Given the description of an element on the screen output the (x, y) to click on. 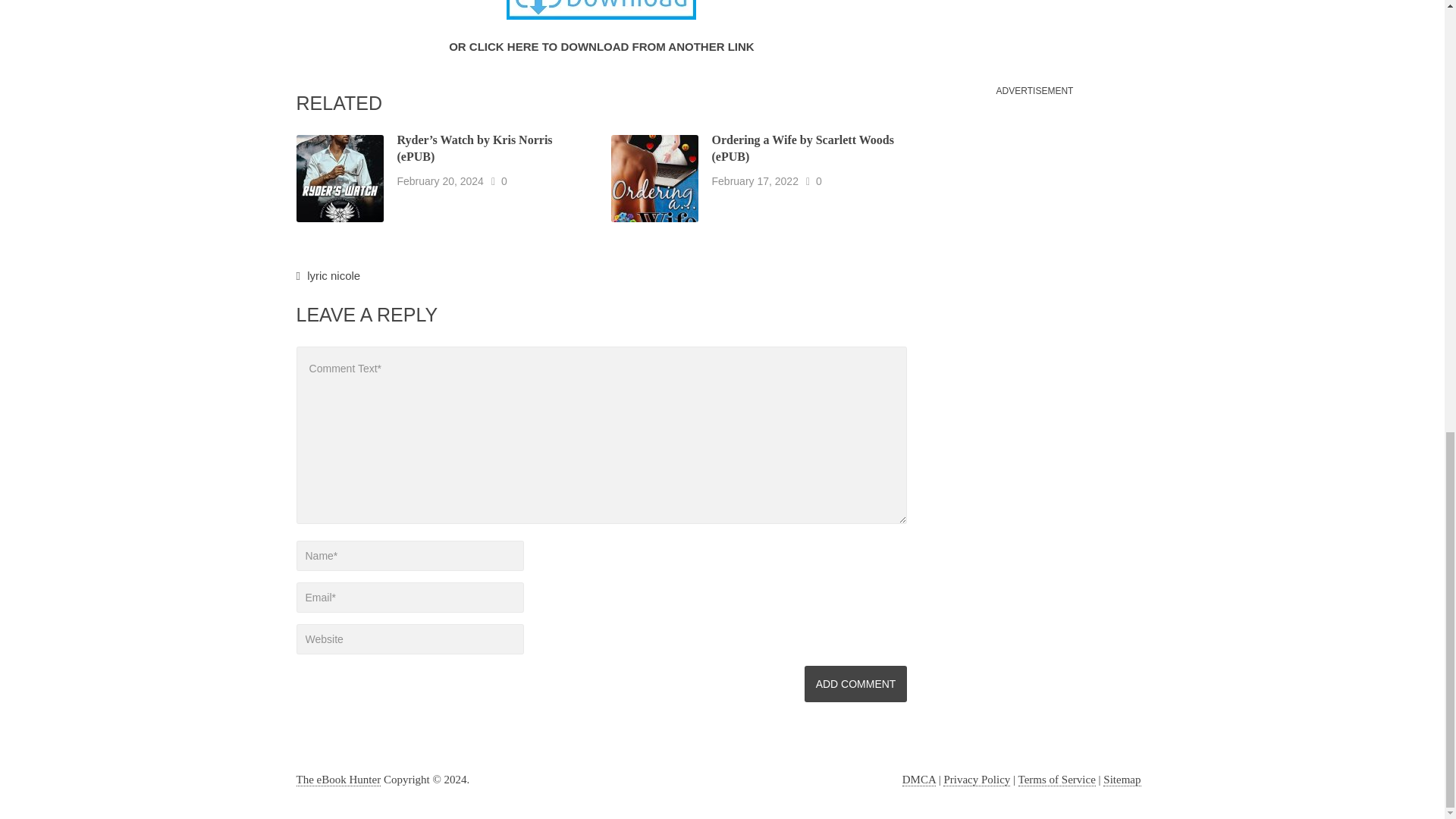
Add Comment (856, 683)
Add Comment (856, 683)
0 (818, 180)
0 (504, 180)
lyric nicole (333, 275)
OR CLICK HERE TO DOWNLOAD FROM ANOTHER LINK (601, 46)
